Given the description of an element on the screen output the (x, y) to click on. 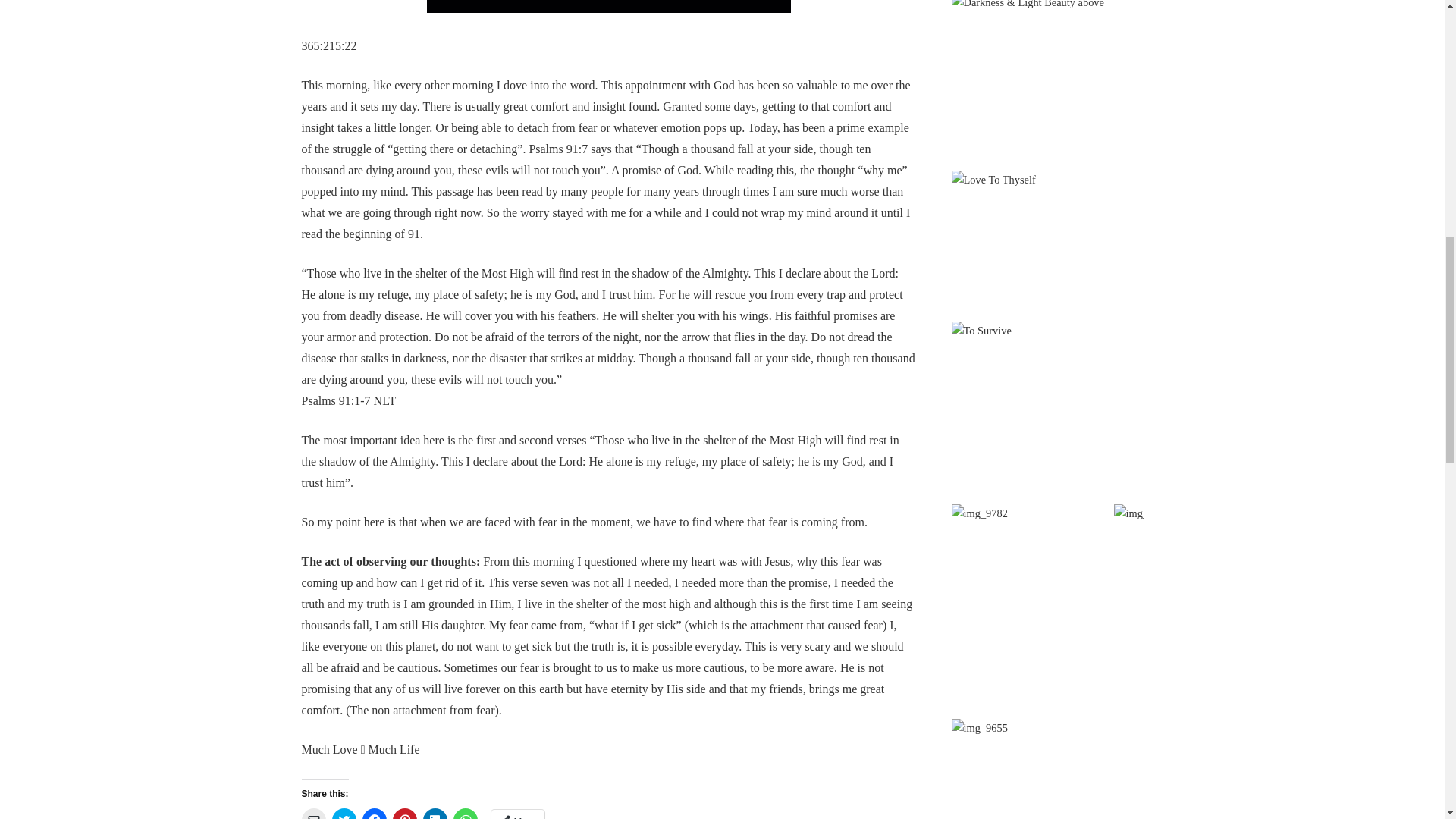
Click to share on Pinterest (404, 813)
Click to share on WhatsApp (464, 813)
More (518, 814)
Click to share on Twitter (343, 813)
Click to email a link to a friend (313, 813)
Click to share on LinkedIn (434, 813)
Click to share on Facebook (374, 813)
